Given the description of an element on the screen output the (x, y) to click on. 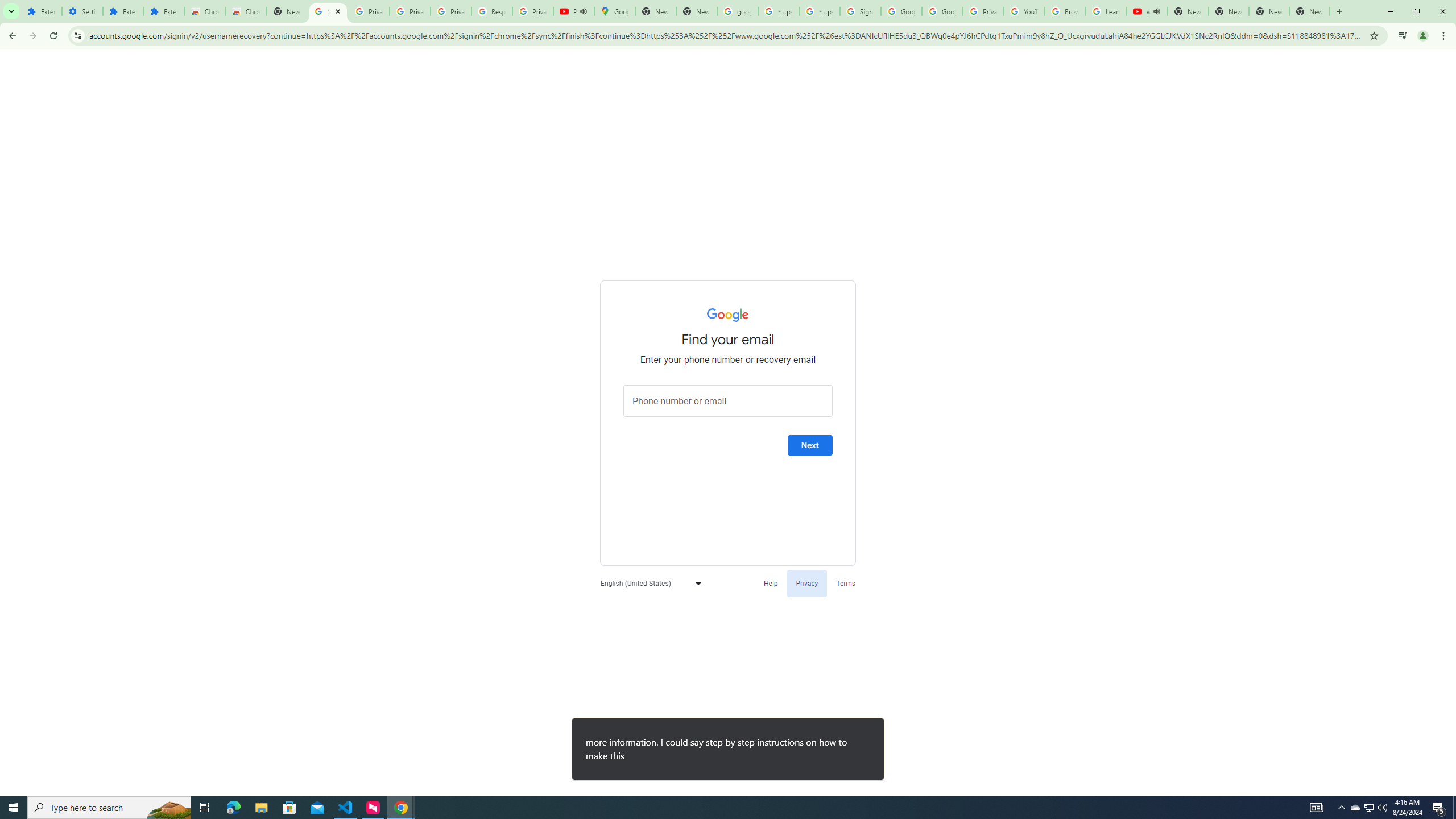
Google Maps (614, 11)
New Tab (1309, 11)
Personalized AI for you | Gemini - YouTube - Audio playing (573, 11)
YouTube (1023, 11)
